Given the description of an element on the screen output the (x, y) to click on. 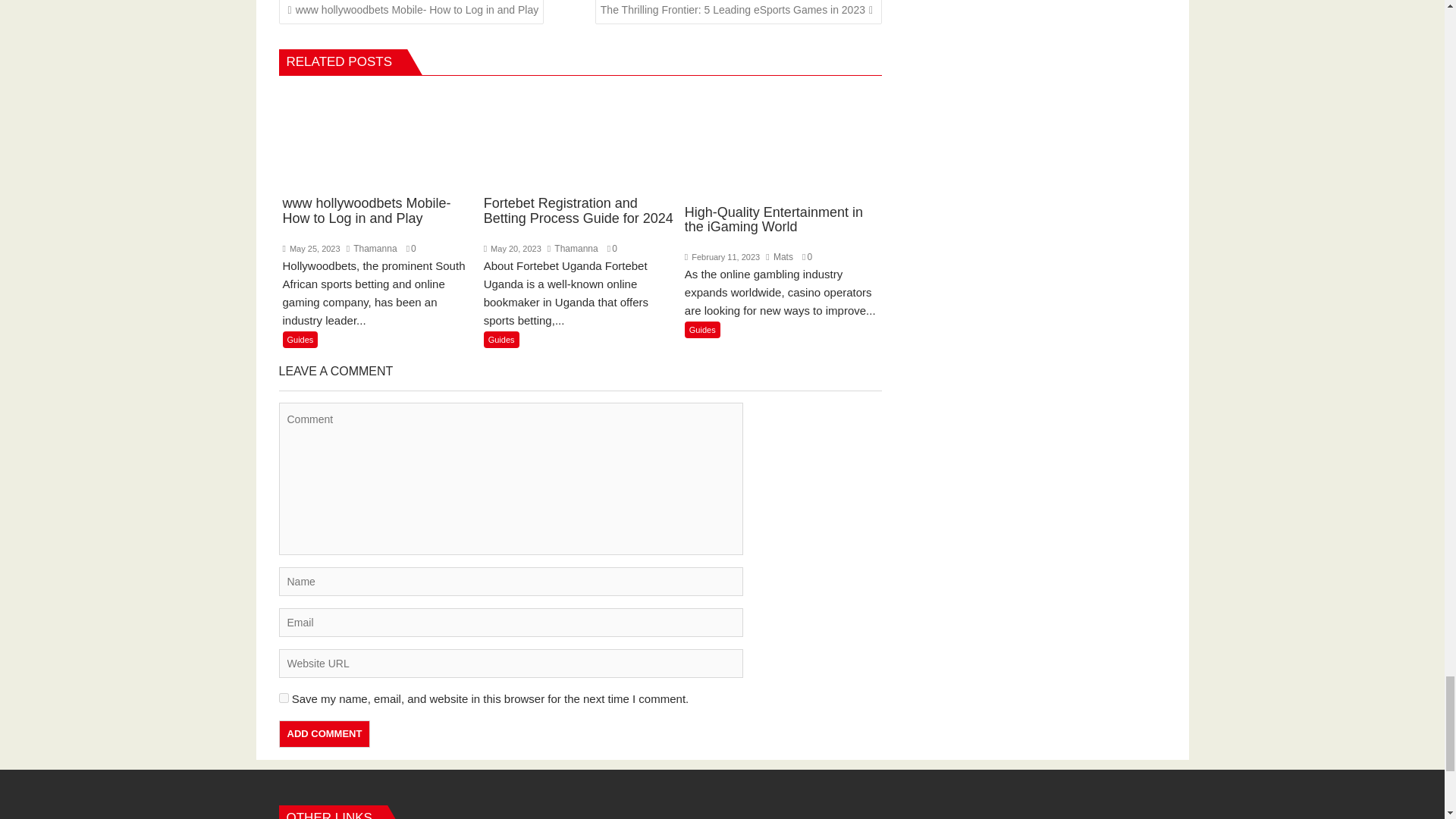
Mats (779, 256)
Thamanna (572, 248)
yes (283, 697)
High-Quality Entertainment in the iGaming World (780, 176)
Thamanna (572, 248)
www hollywoodbets Mobile- How to Log in and Play (379, 171)
Guides (501, 339)
The Thrilling Frontier: 5 Leading eSports Games in 2023 (738, 12)
Thamanna (371, 248)
Fortebet Registration and Betting Process Guide for 2024 (580, 171)
